Given the description of an element on the screen output the (x, y) to click on. 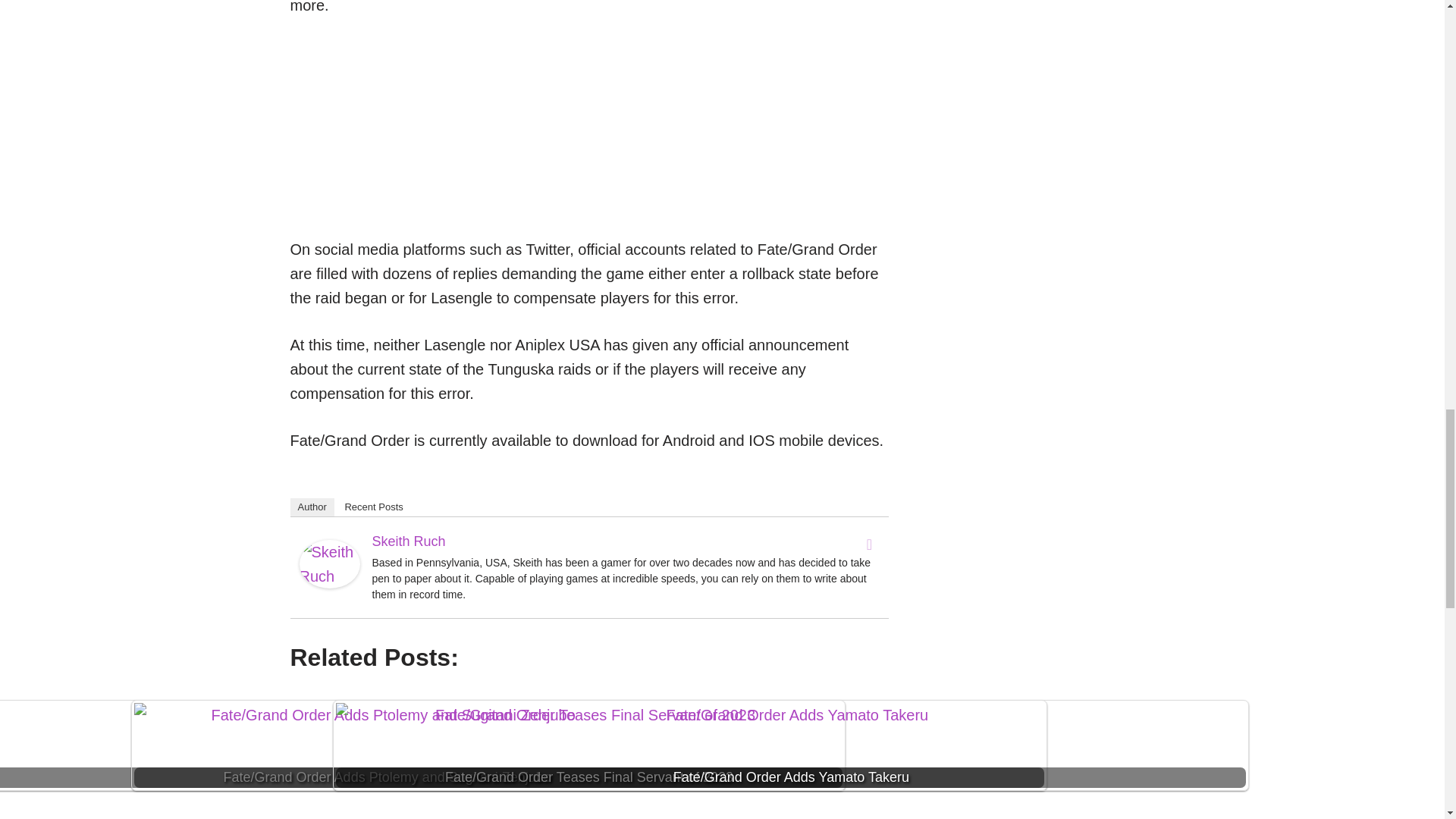
Skeith Ruch (408, 540)
Skeith Ruch (328, 582)
Recent Posts (373, 506)
Twitter (868, 544)
Author (311, 506)
